Given the description of an element on the screen output the (x, y) to click on. 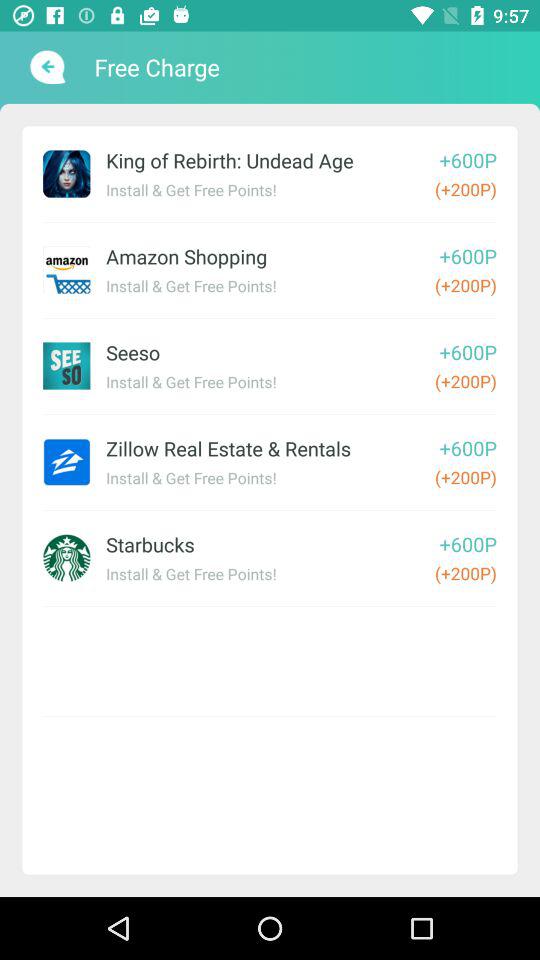
click on first image at top left  (66, 173)
